Given the description of an element on the screen output the (x, y) to click on. 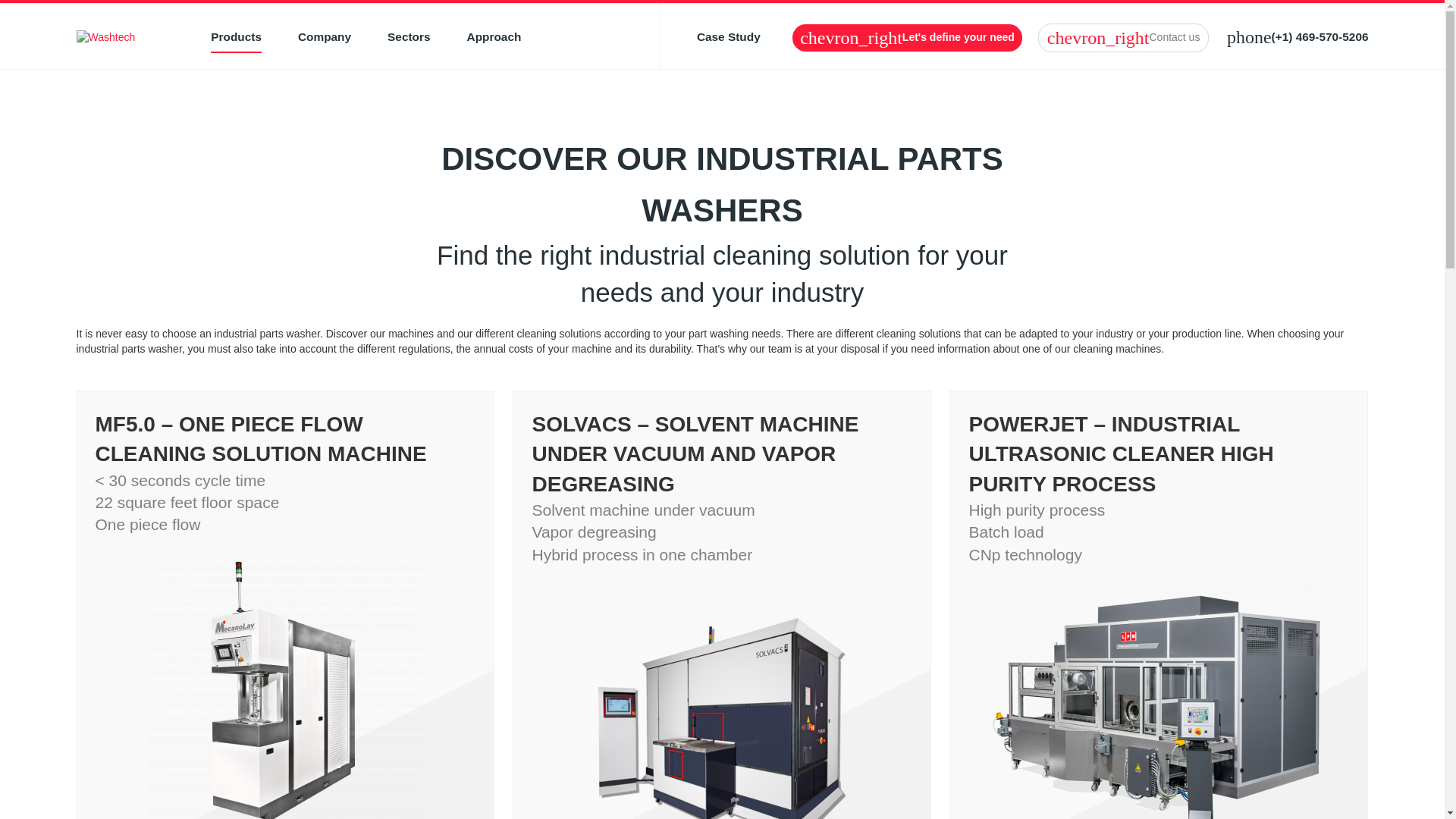
Approach (494, 37)
Case Study (728, 37)
Products (236, 37)
Approach (494, 37)
Sectors (408, 37)
case-study (728, 37)
Company (324, 37)
Contact us (1123, 37)
Company (324, 37)
Sectors (408, 37)
Products (236, 37)
